Given the description of an element on the screen output the (x, y) to click on. 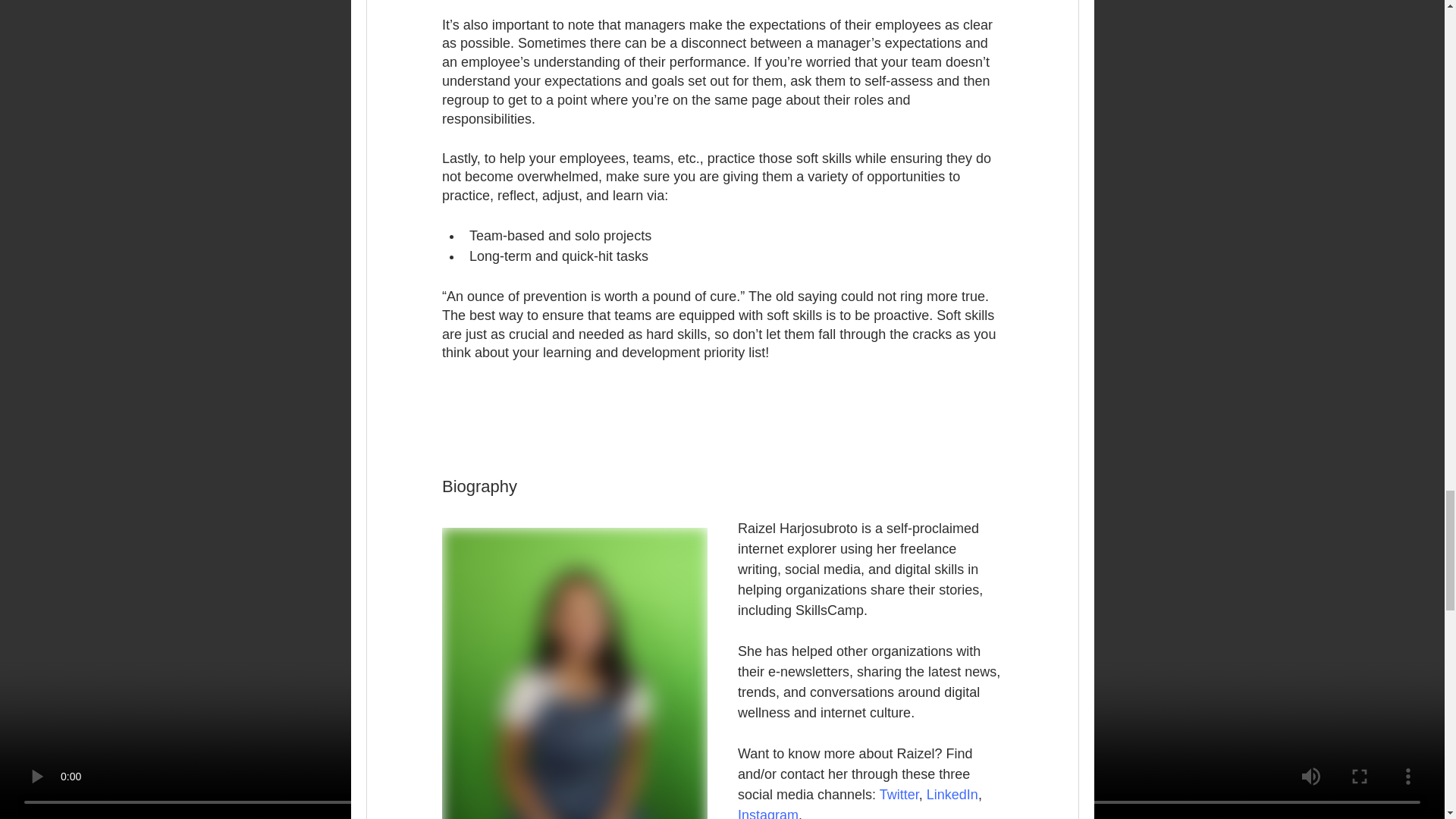
Instagram (766, 813)
Twitter (898, 794)
LinkedIn (951, 794)
